Given the description of an element on the screen output the (x, y) to click on. 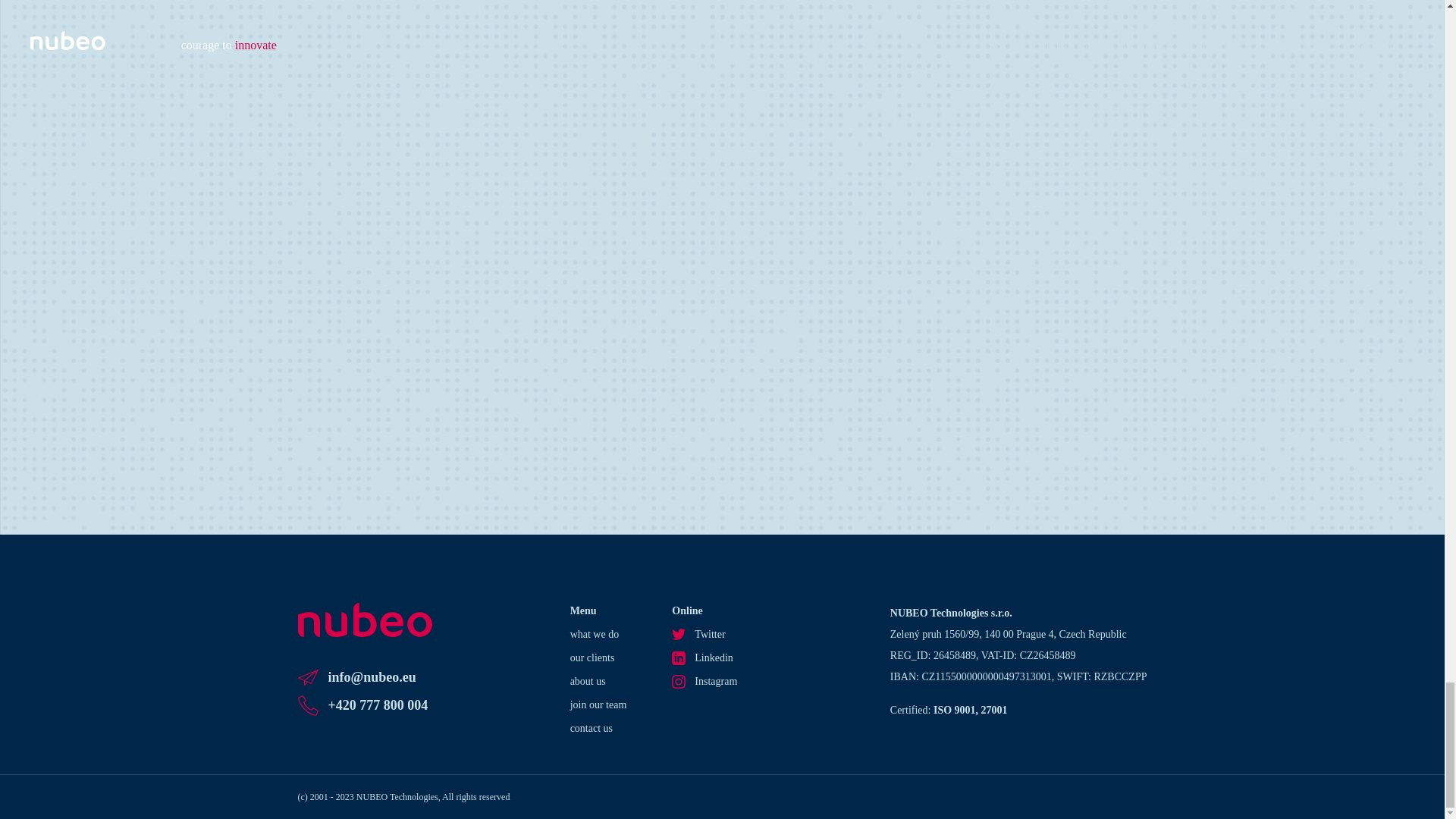
Instagram (703, 681)
join our team (598, 704)
Twitter (703, 634)
our clients (598, 657)
about us (598, 681)
contact us (598, 728)
Linkedin (703, 657)
what we do (598, 634)
